Given the description of an element on the screen output the (x, y) to click on. 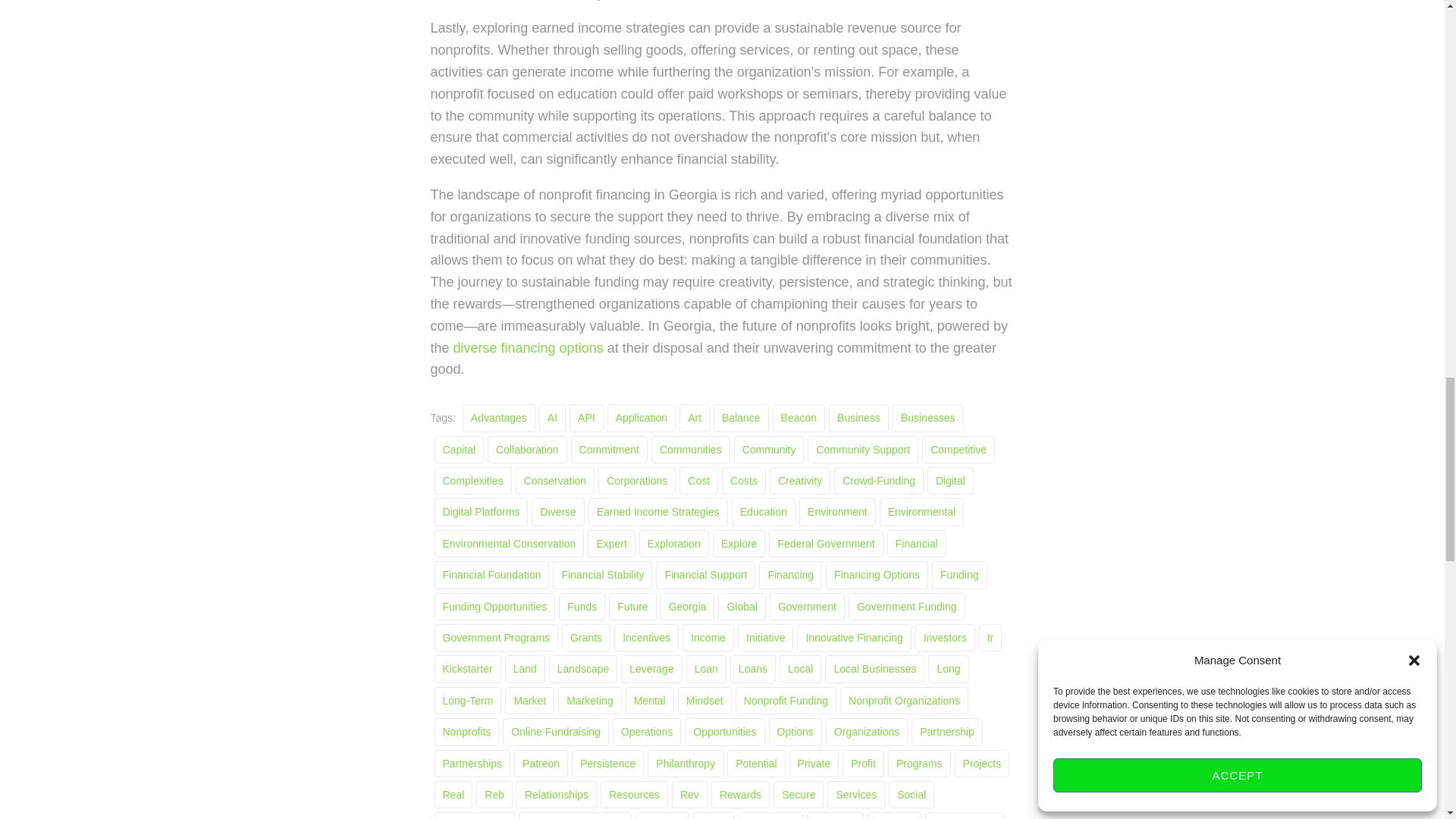
Posts tagged with diverse financing options (528, 347)
